Given the description of an element on the screen output the (x, y) to click on. 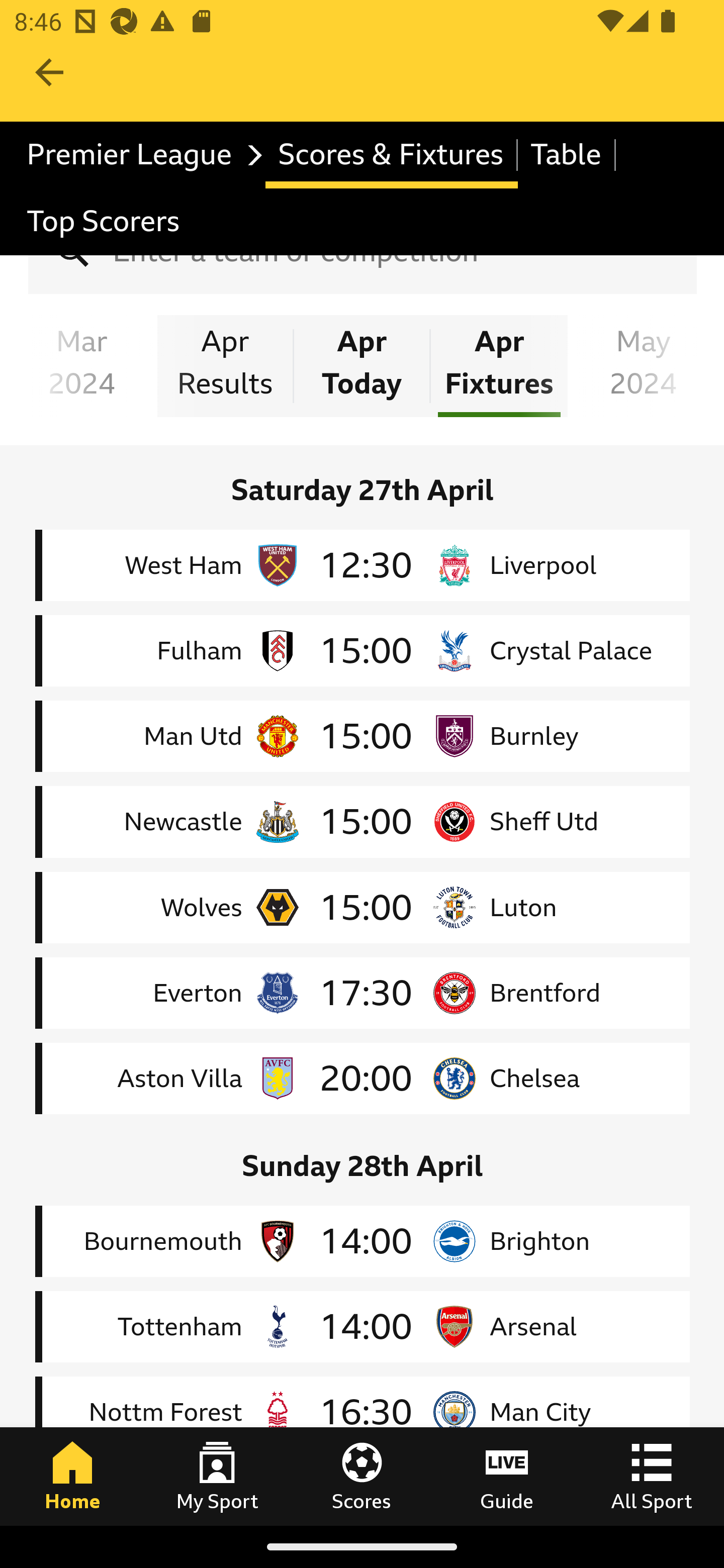
Navigate up (49, 82)
Premier League (140, 155)
Scores & Fixtures (391, 155)
Table (567, 155)
Top Scorers (103, 221)
My Sport (216, 1475)
Scores (361, 1475)
Guide (506, 1475)
All Sport (651, 1475)
